Given the description of an element on the screen output the (x, y) to click on. 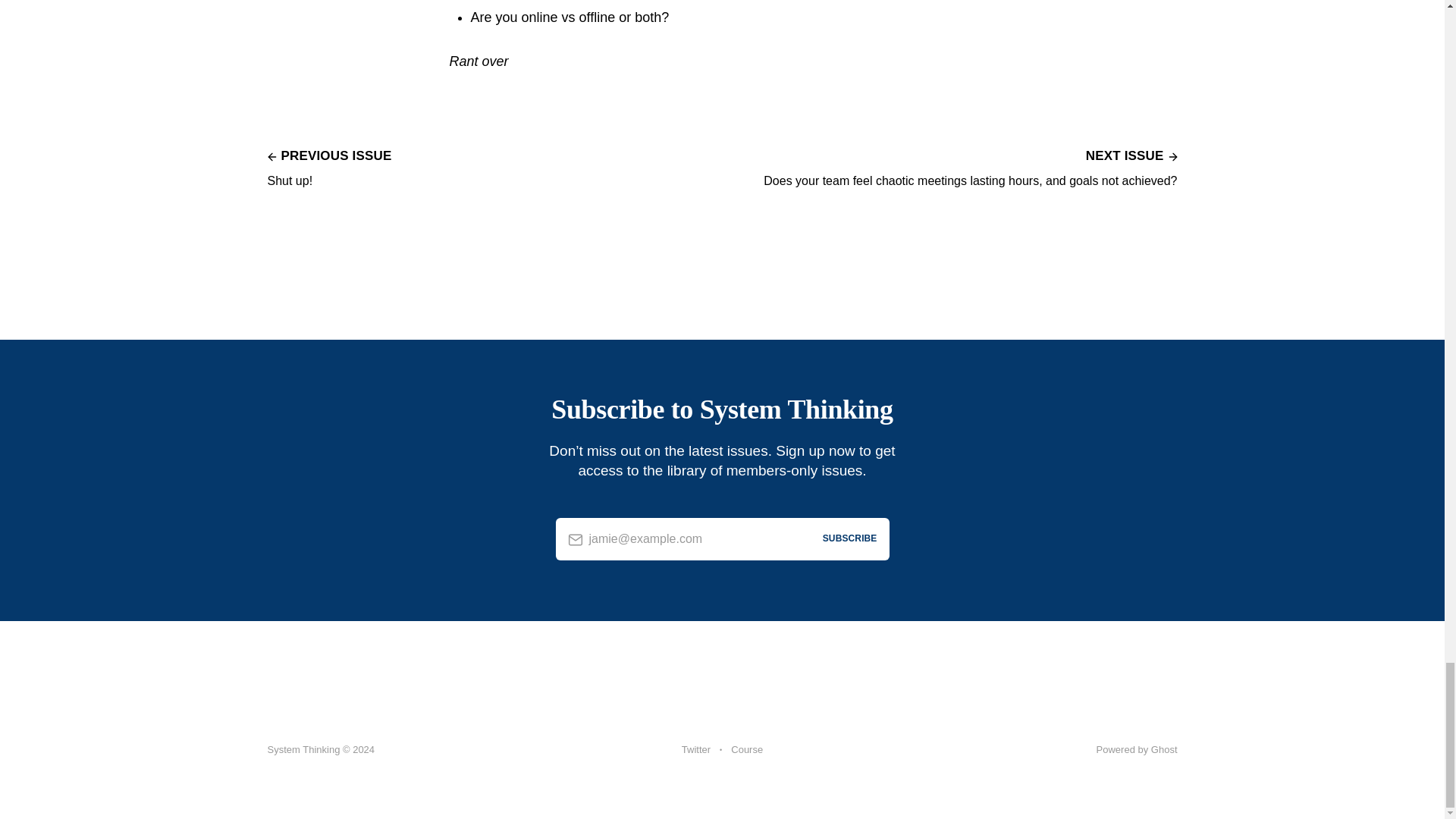
Powered by Ghost (328, 166)
Course (1136, 749)
Twitter (746, 750)
